Given the description of an element on the screen output the (x, y) to click on. 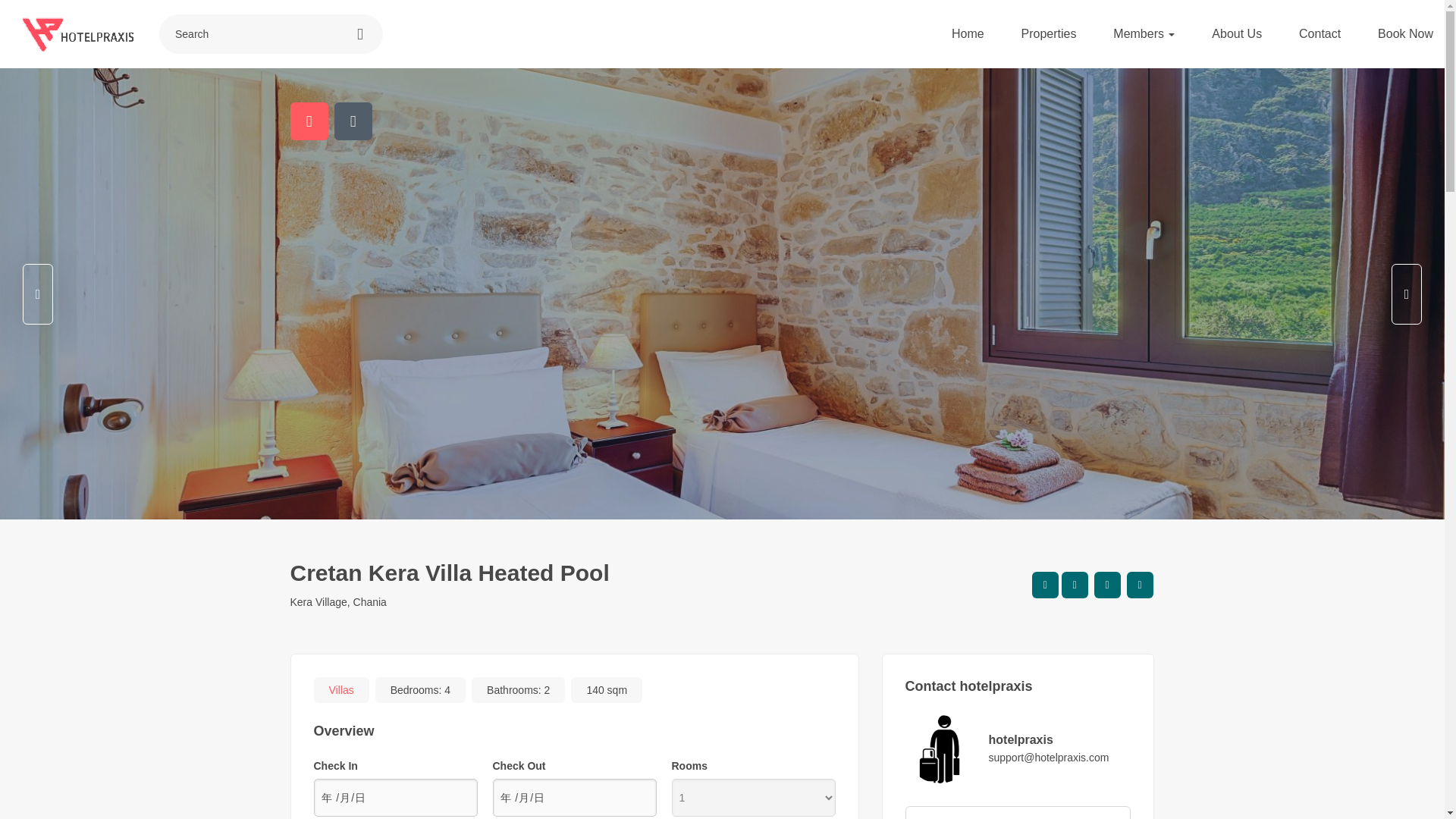
Members (1143, 33)
